Given the description of an element on the screen output the (x, y) to click on. 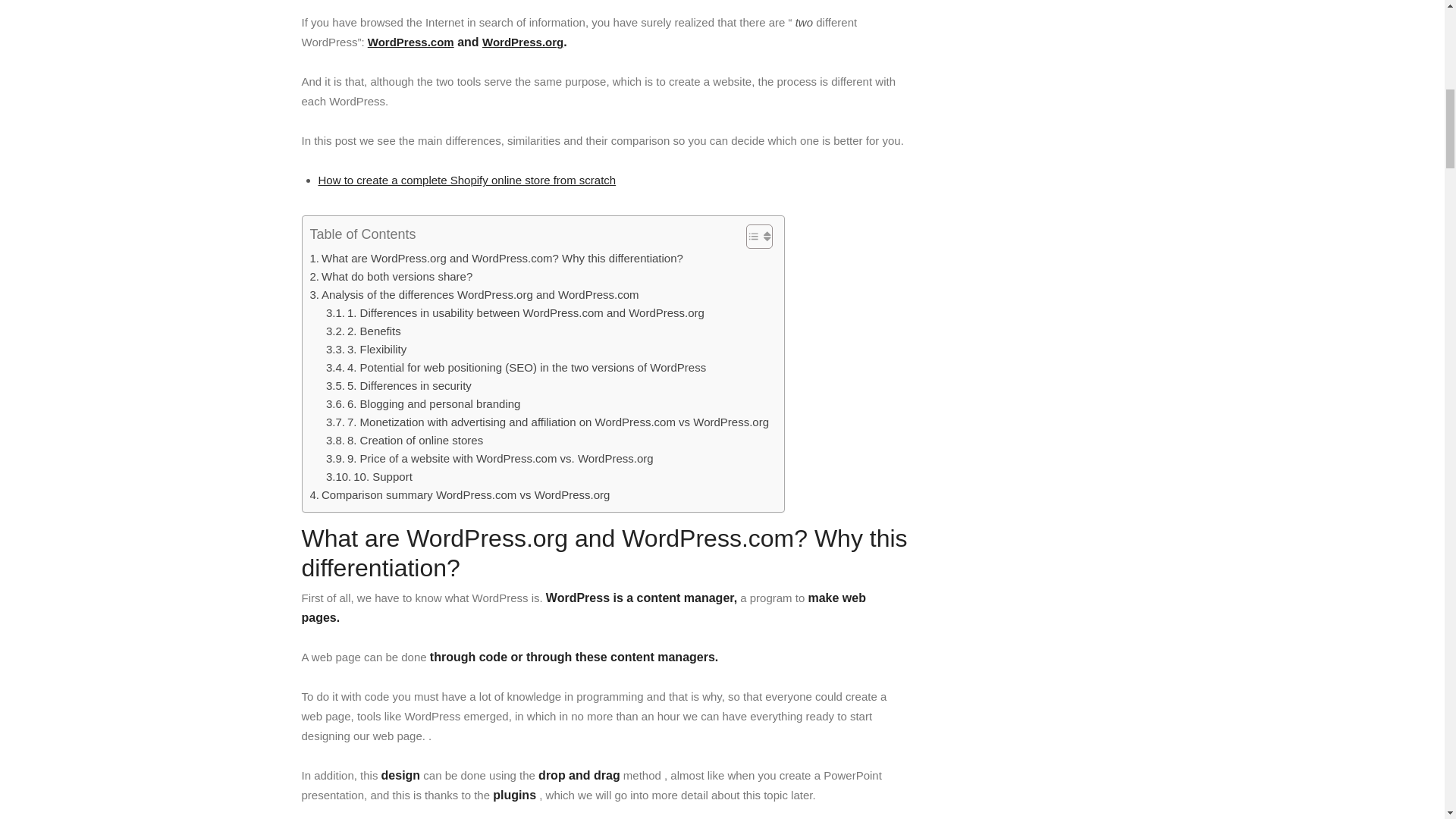
10. Support (369, 476)
2. Benefits (363, 331)
6. Blogging and personal branding (423, 403)
3. Flexibility (366, 349)
6. Blogging and personal branding (423, 403)
9. Price of a website with WordPress.com vs. WordPress.org (489, 458)
WordPress.com (411, 42)
8. Creation of online stores (404, 440)
Analysis of the differences WordPress.org and WordPress.com (473, 294)
How to create a complete Shopify online store from scratch (466, 179)
What do both versions share? (389, 276)
2. Benefits (363, 331)
